Given the description of an element on the screen output the (x, y) to click on. 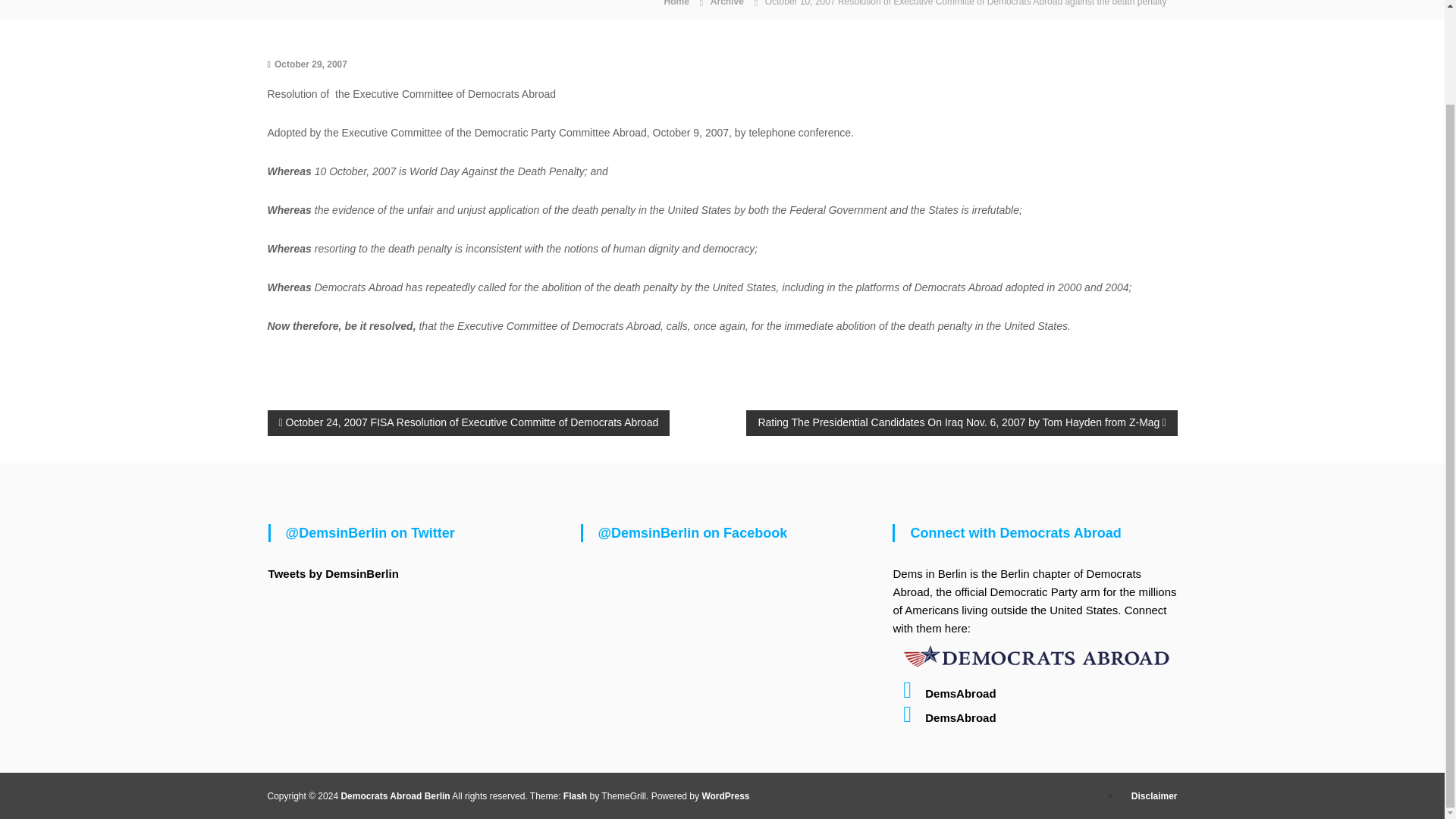
Flash (574, 796)
WordPress (725, 796)
Home (675, 3)
Tweets by DemsinBerlin (332, 572)
Democrats Abroad Berlin (394, 796)
Home (675, 3)
DemsAbroad (943, 717)
October 29, 2007 (311, 63)
Disclaimer (1154, 796)
Archive (727, 3)
DemsAbroad (943, 693)
